Given the description of an element on the screen output the (x, y) to click on. 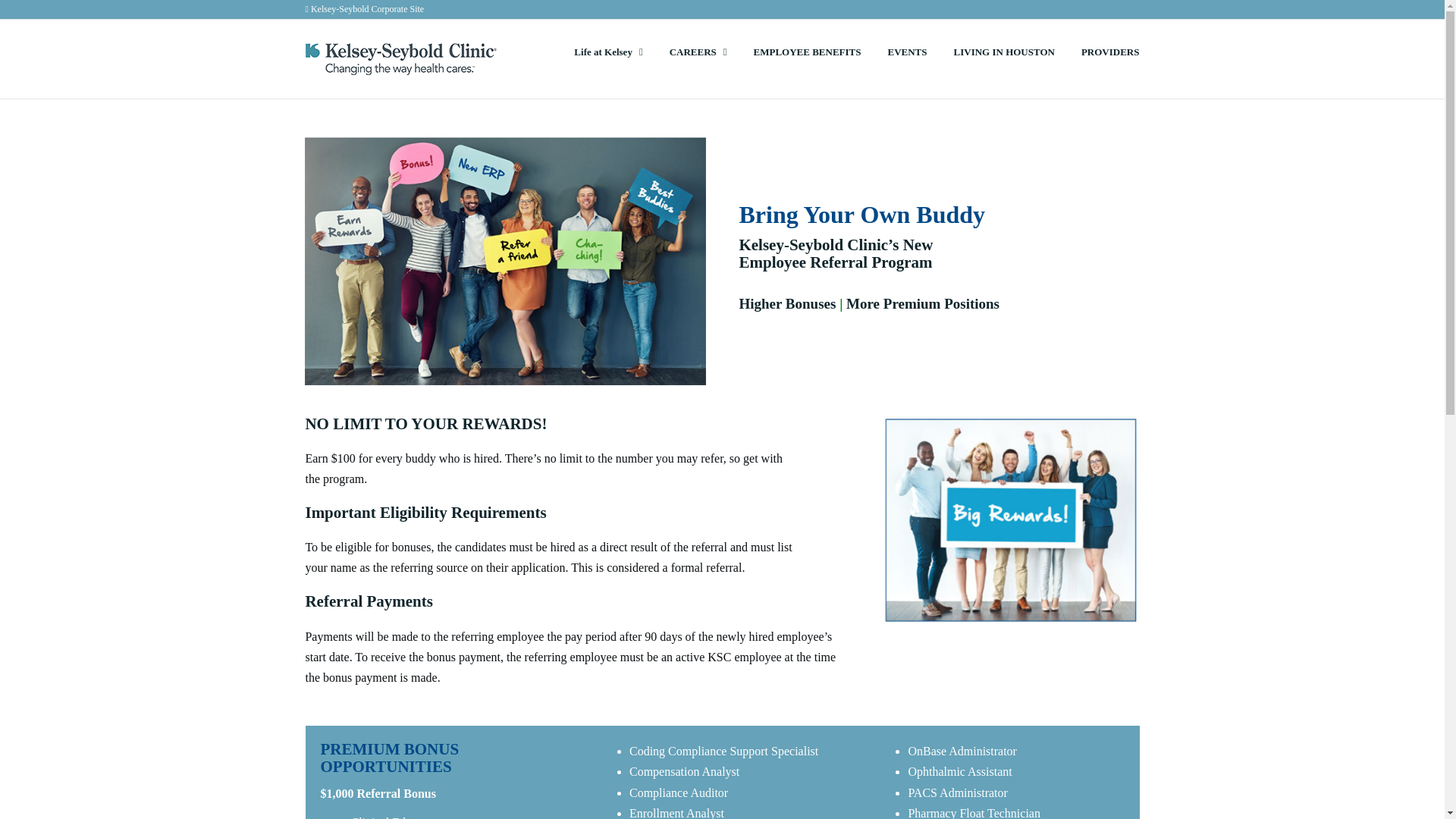
CAREERS (697, 51)
big-rewards (1010, 519)
PROVIDERS (1110, 51)
Life at Kelsey (607, 51)
LIVING IN HOUSTON (1003, 51)
byob (504, 260)
EMPLOYEE BENEFITS (807, 51)
Kelsey-Seybold Corporate Site (363, 9)
